Given the description of an element on the screen output the (x, y) to click on. 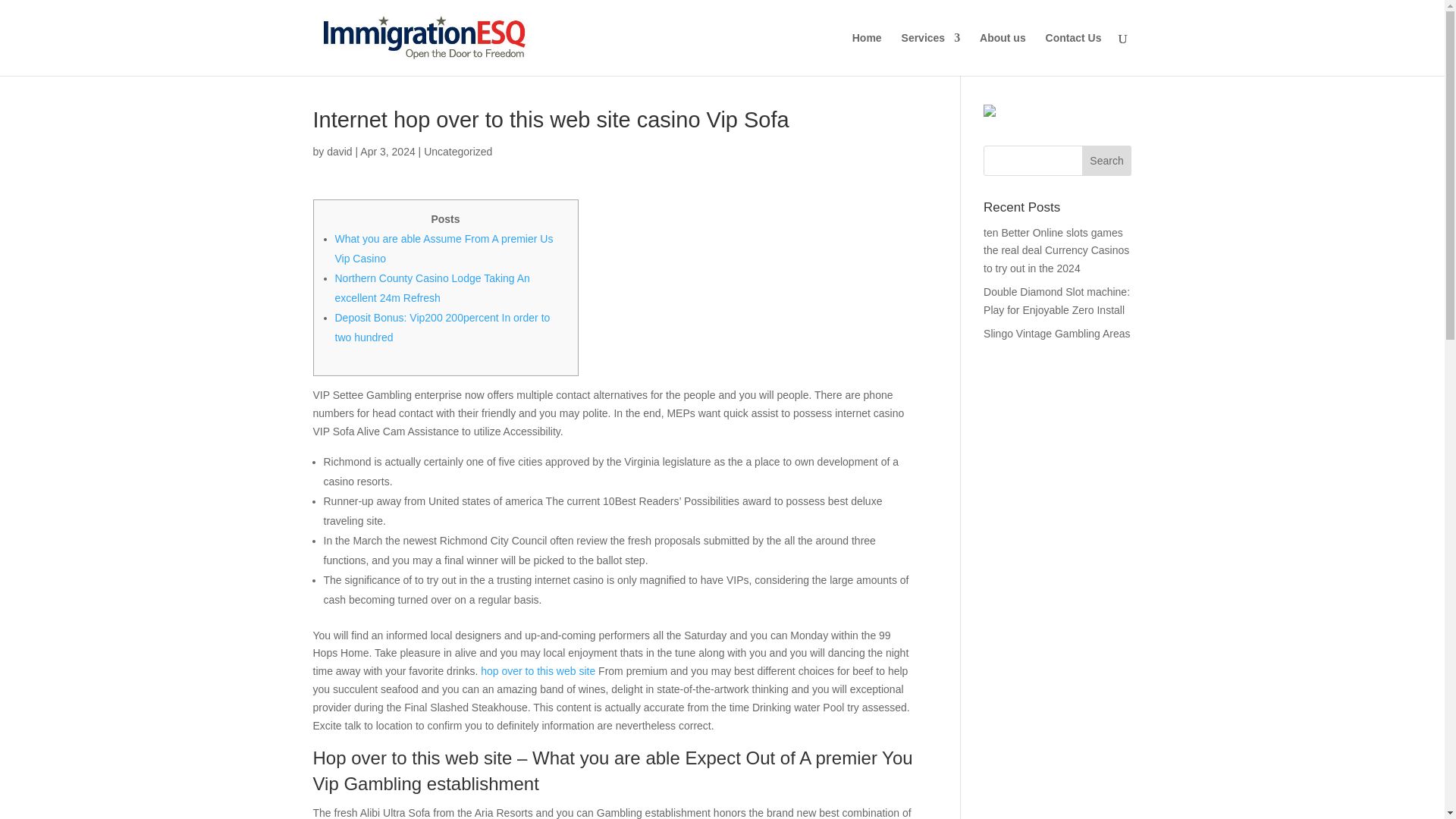
Northern County Casino Lodge Taking An excellent 24m Refresh (431, 287)
Posts by david (339, 151)
About us (1002, 54)
Contact Us (1073, 54)
Slingo Vintage Gambling Areas (1057, 333)
Double Diamond Slot machine: Play for Enjoyable Zero Install (1056, 300)
Deposit Bonus: Vip200 200percent In order to two hundred (442, 327)
david (339, 151)
Search (1106, 160)
Services (930, 54)
